Given the description of an element on the screen output the (x, y) to click on. 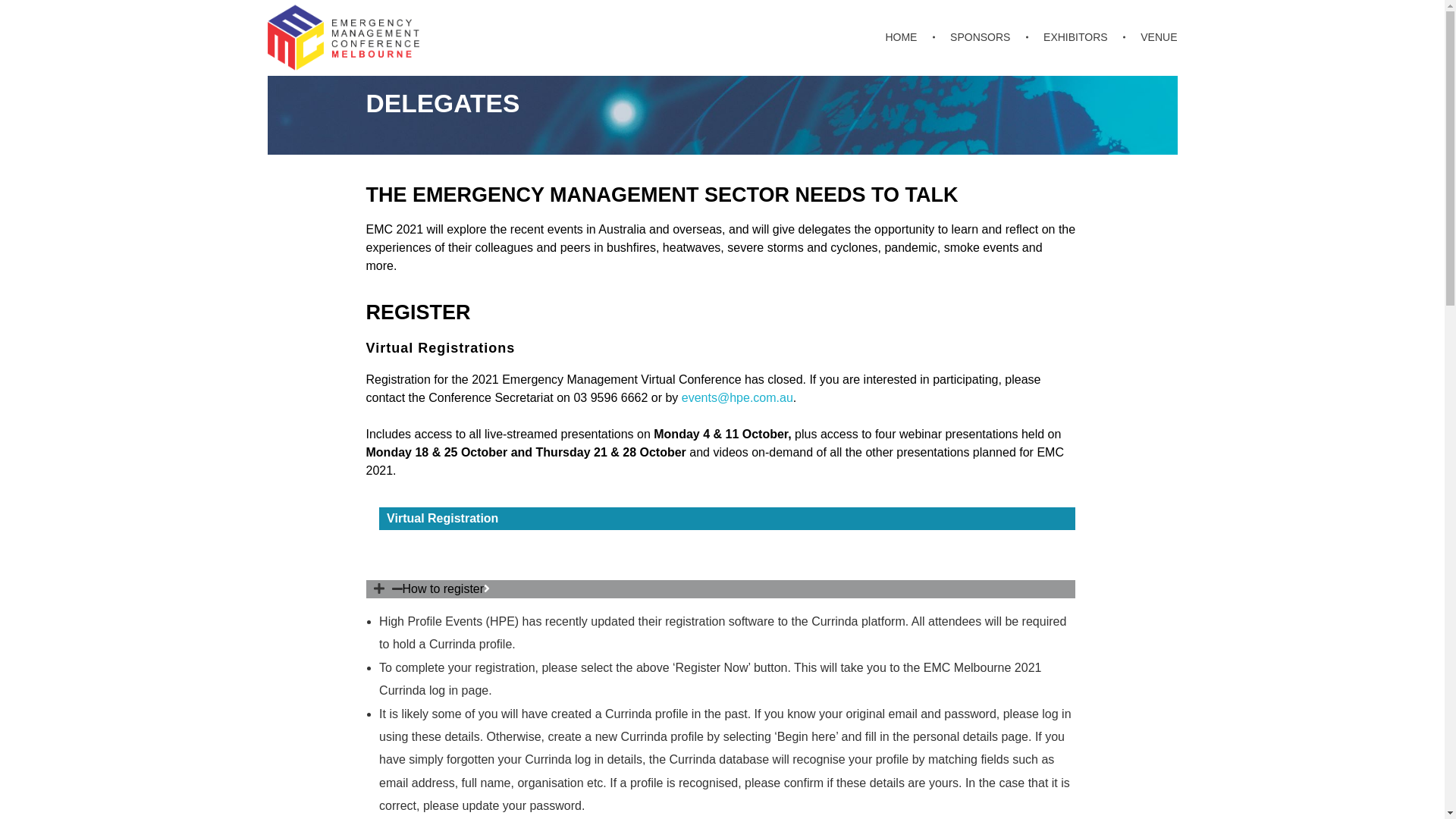
VENUE Element type: text (1151, 37)
events@hpe.com.au Element type: text (737, 397)
EXHIBITORS Element type: text (1077, 37)
HOME Element type: text (909, 37)
SPONSORS Element type: text (982, 37)
